Given the description of an element on the screen output the (x, y) to click on. 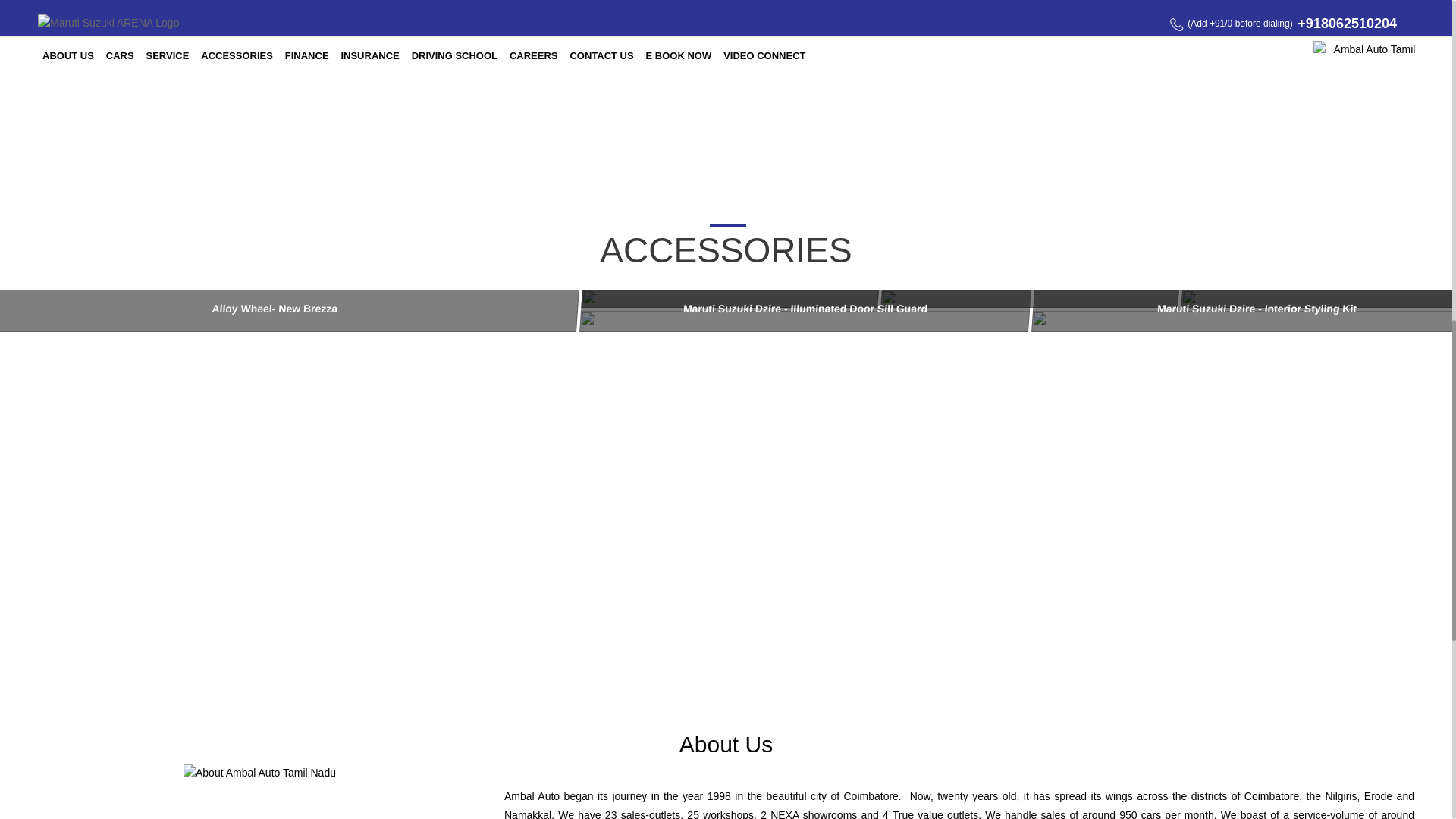
SUBMIT (1352, 109)
true (47, 134)
